Given the description of an element on the screen output the (x, y) to click on. 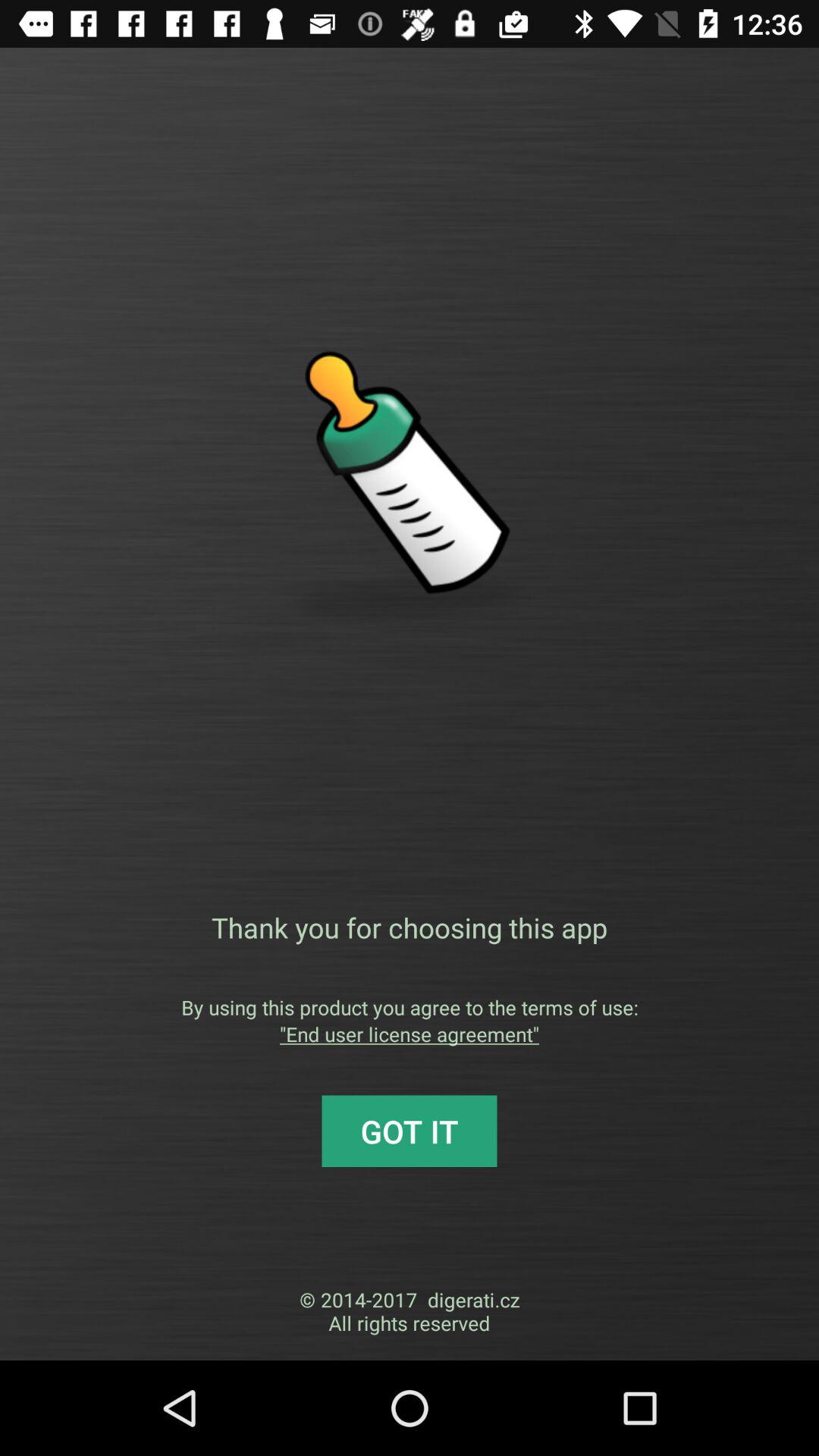
flip to the got it icon (409, 1131)
